Given the description of an element on the screen output the (x, y) to click on. 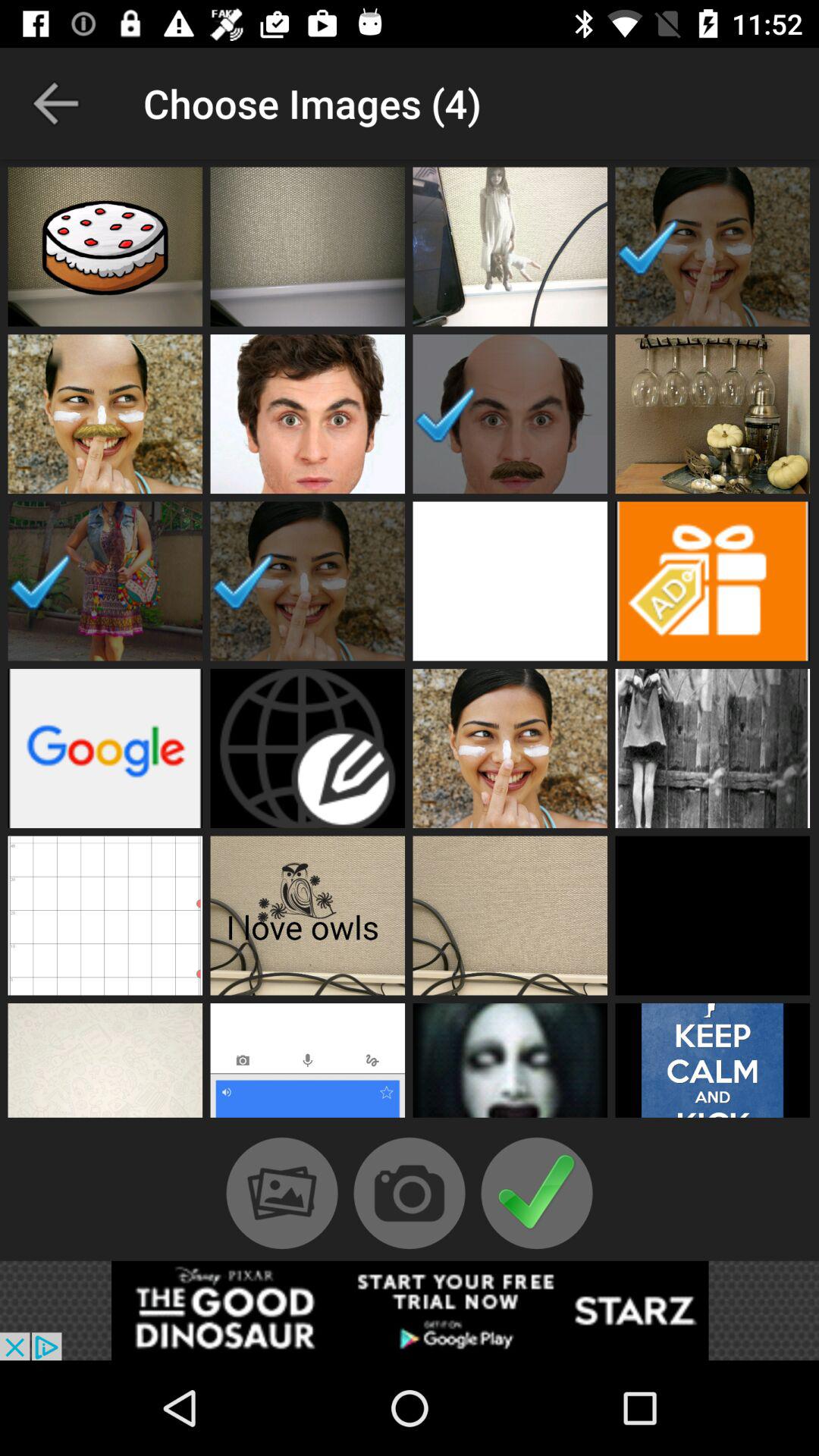
open profile (509, 580)
